Given the description of an element on the screen output the (x, y) to click on. 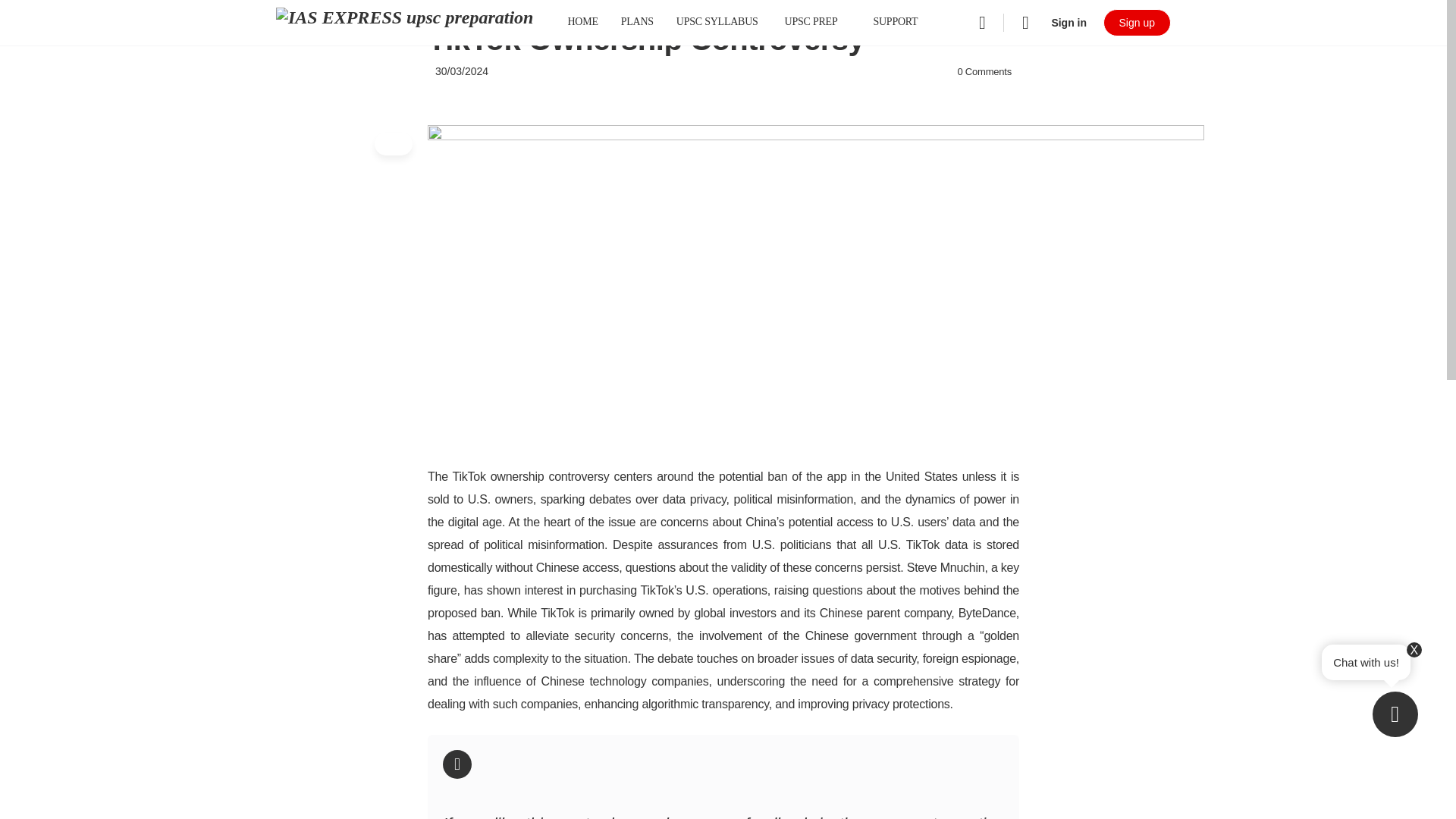
PLANS (636, 22)
HOME (582, 22)
UPSC PREP (818, 22)
UPSC SYLLABUS (716, 22)
